Given the description of an element on the screen output the (x, y) to click on. 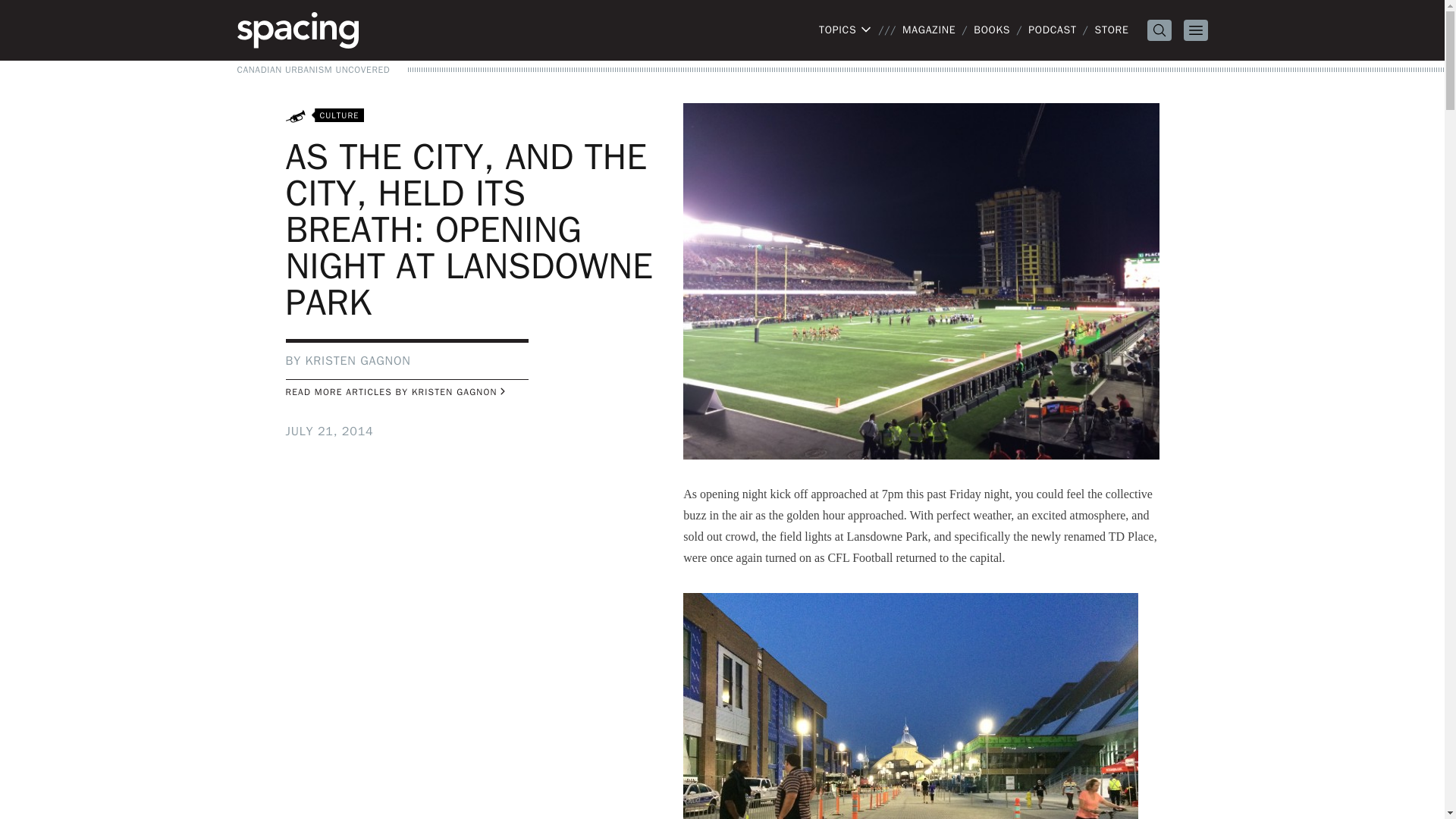
TOPICS (845, 29)
MAGAZINE (928, 29)
BOOKS (992, 29)
